Given the description of an element on the screen output the (x, y) to click on. 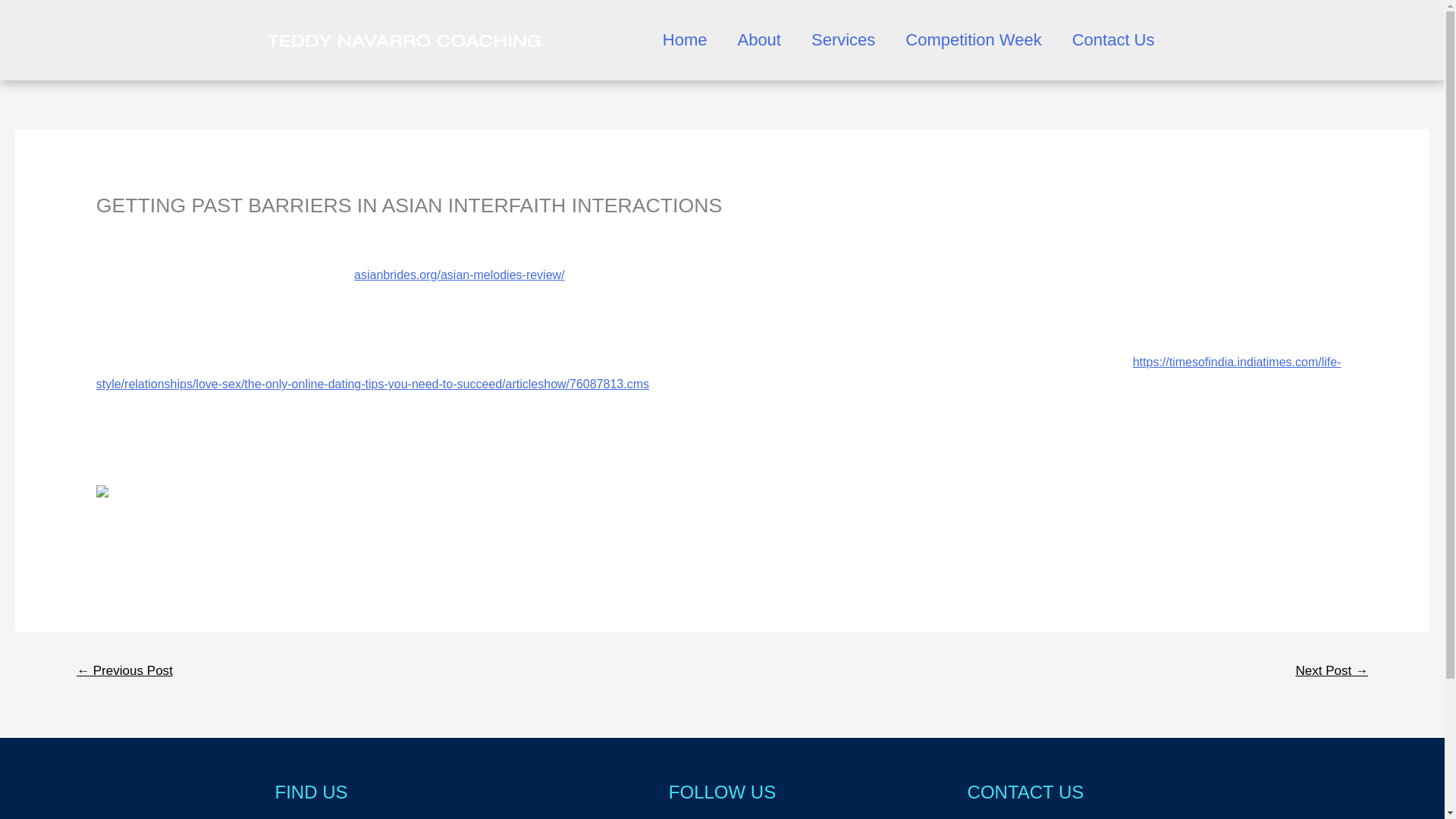
Online dating (131, 230)
navarro.teddy (232, 230)
Contact Us (1113, 39)
About (759, 39)
Home (684, 39)
View all posts by navarro.teddy (232, 230)
Competition Week (973, 39)
Services (842, 39)
